Given the description of an element on the screen output the (x, y) to click on. 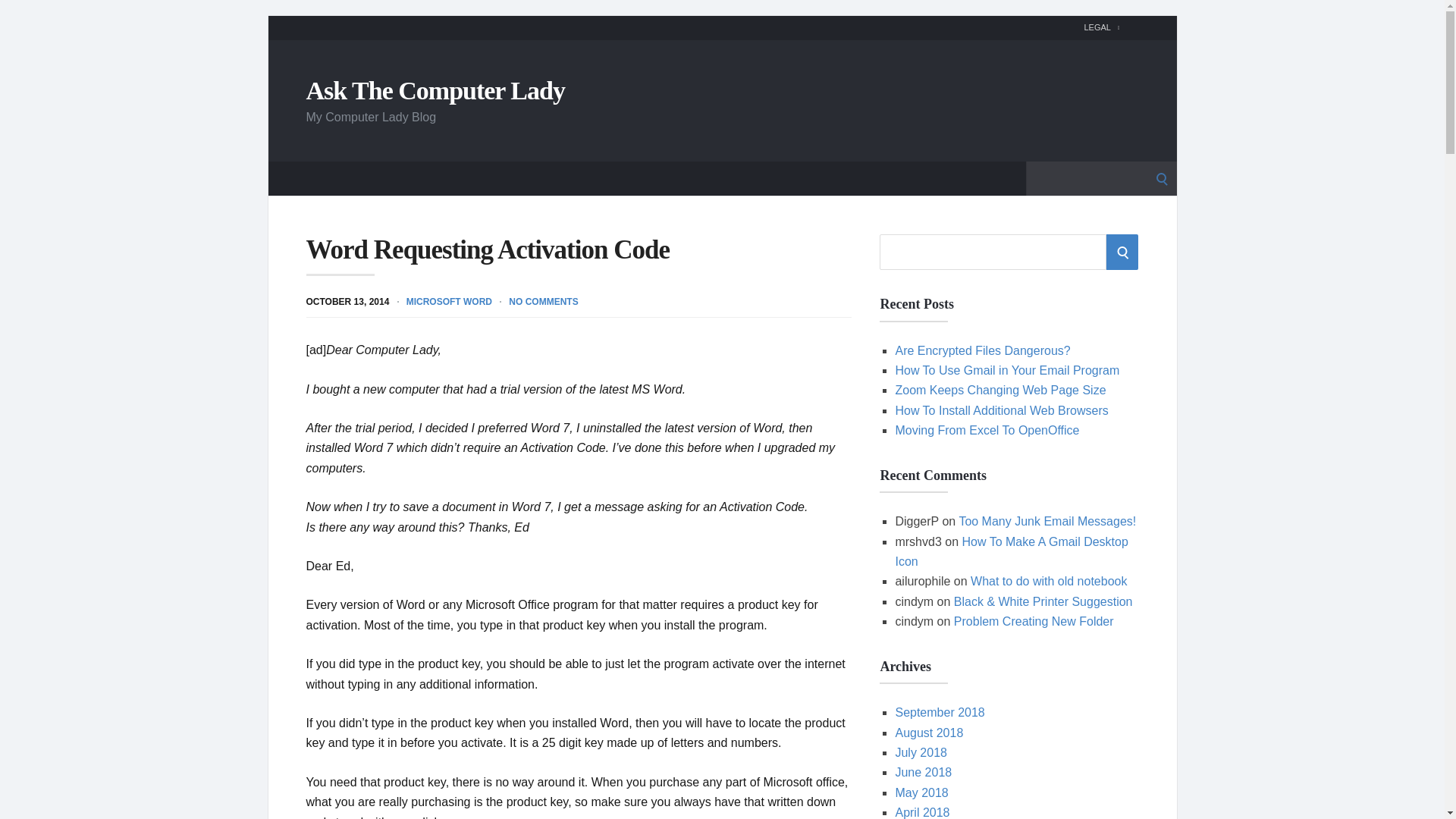
April 2018 (922, 812)
Are Encrypted Files Dangerous? (982, 350)
How To Use Gmail in Your Email Program (1007, 369)
May 2018 (921, 792)
July 2018 (921, 752)
Search (16, 17)
August 2018 (928, 732)
June 2018 (923, 771)
September 2018 (939, 712)
How To Install Additional Web Browsers (1001, 410)
